Given the description of an element on the screen output the (x, y) to click on. 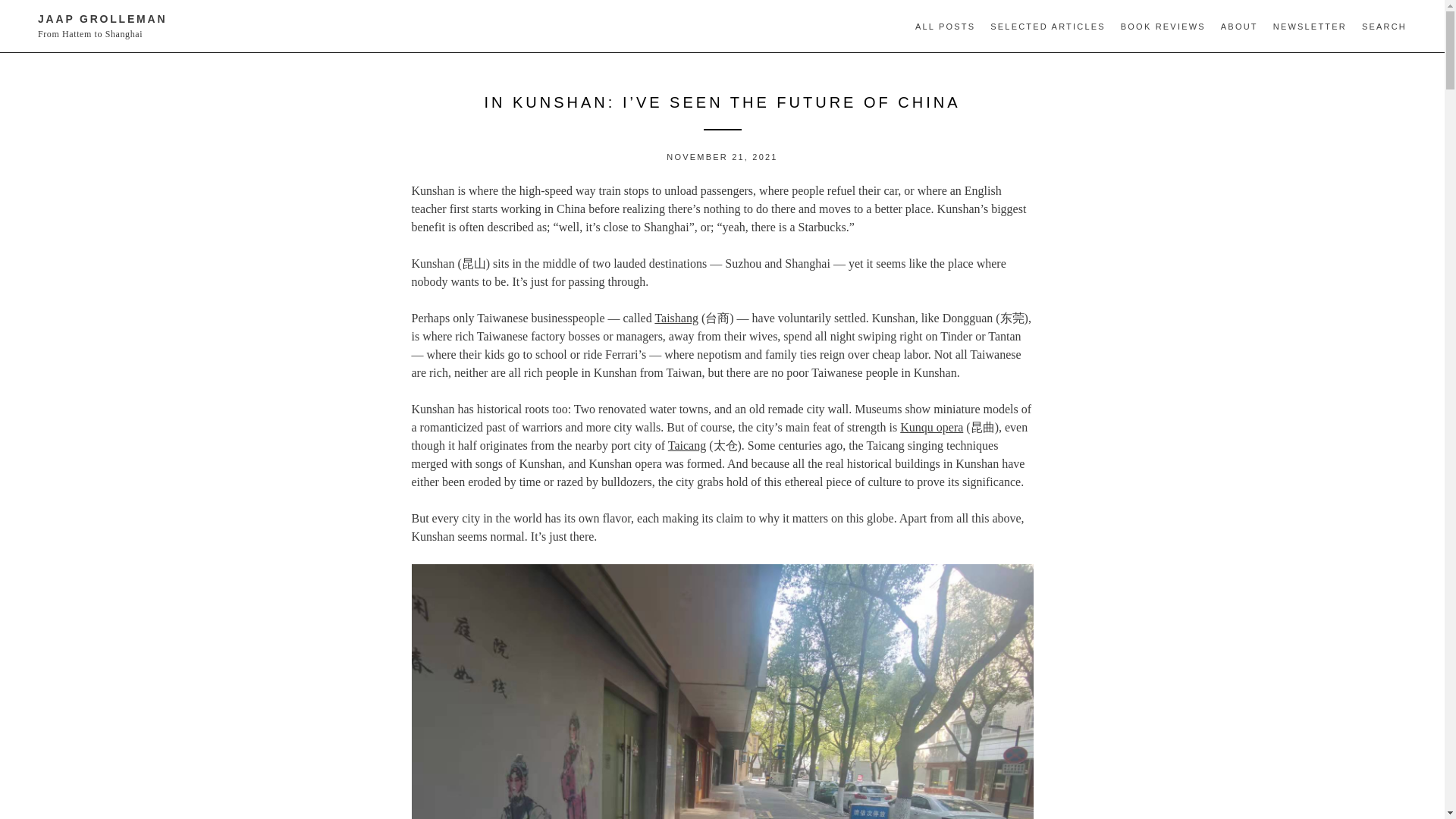
Taicang (687, 445)
ALL POSTS (945, 26)
BOOK REVIEWS (1163, 26)
NEWSLETTER (1309, 26)
Taishang (675, 318)
SELECTED ARTICLES (1047, 26)
ABOUT (1239, 26)
JAAP GROLLEMAN (102, 19)
SEARCH (1383, 26)
Kunqu opera (930, 427)
